Given the description of an element on the screen output the (x, y) to click on. 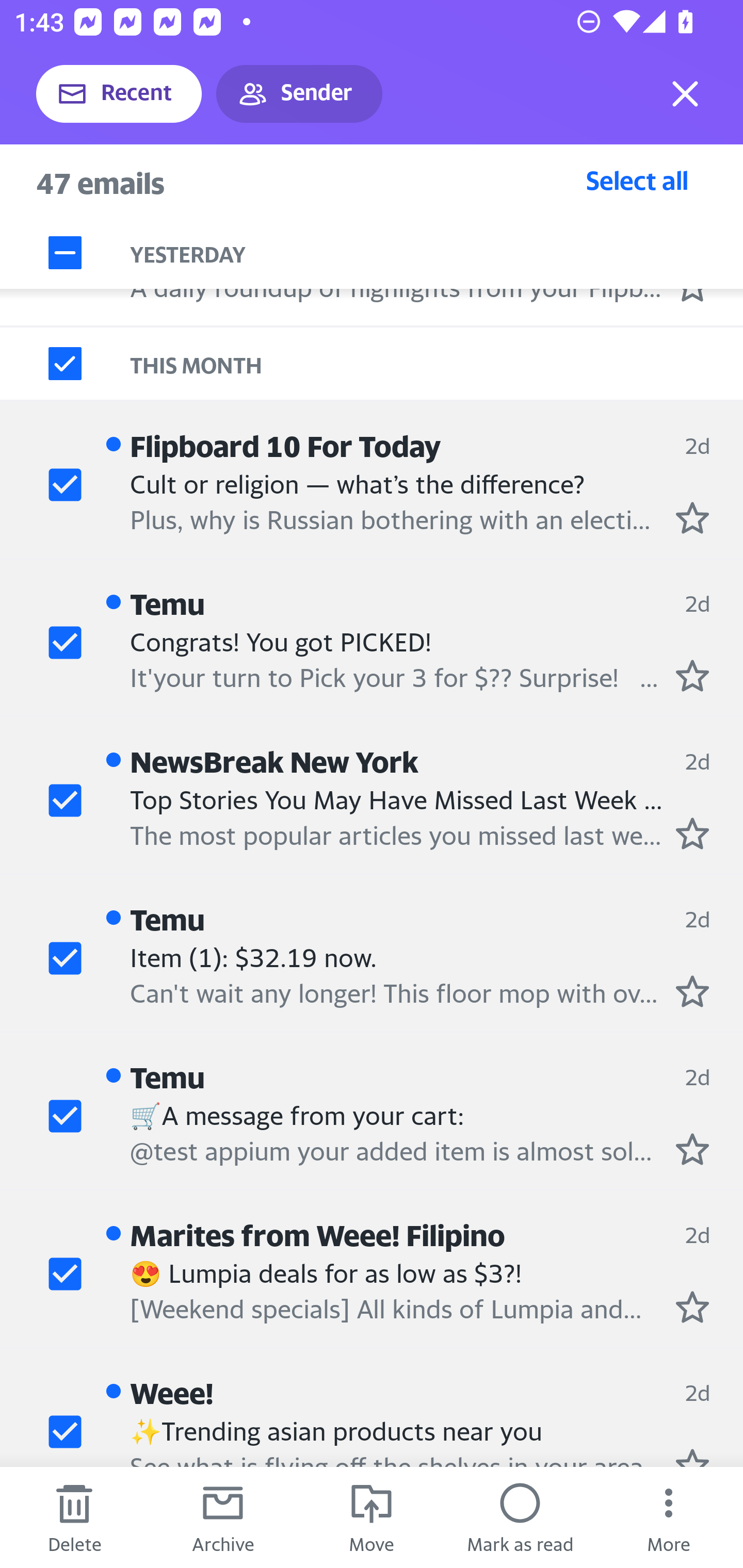
Sender (299, 93)
Exit selection mode (684, 93)
Select all (637, 180)
THIS MONTH (436, 362)
Mark as starred. (692, 518)
Mark as starred. (692, 674)
Mark as starred. (692, 833)
Mark as starred. (692, 991)
Mark as starred. (692, 1148)
Mark as starred. (692, 1306)
Delete (74, 1517)
Archive (222, 1517)
Move (371, 1517)
Mark as read (519, 1517)
More (668, 1517)
